Given the description of an element on the screen output the (x, y) to click on. 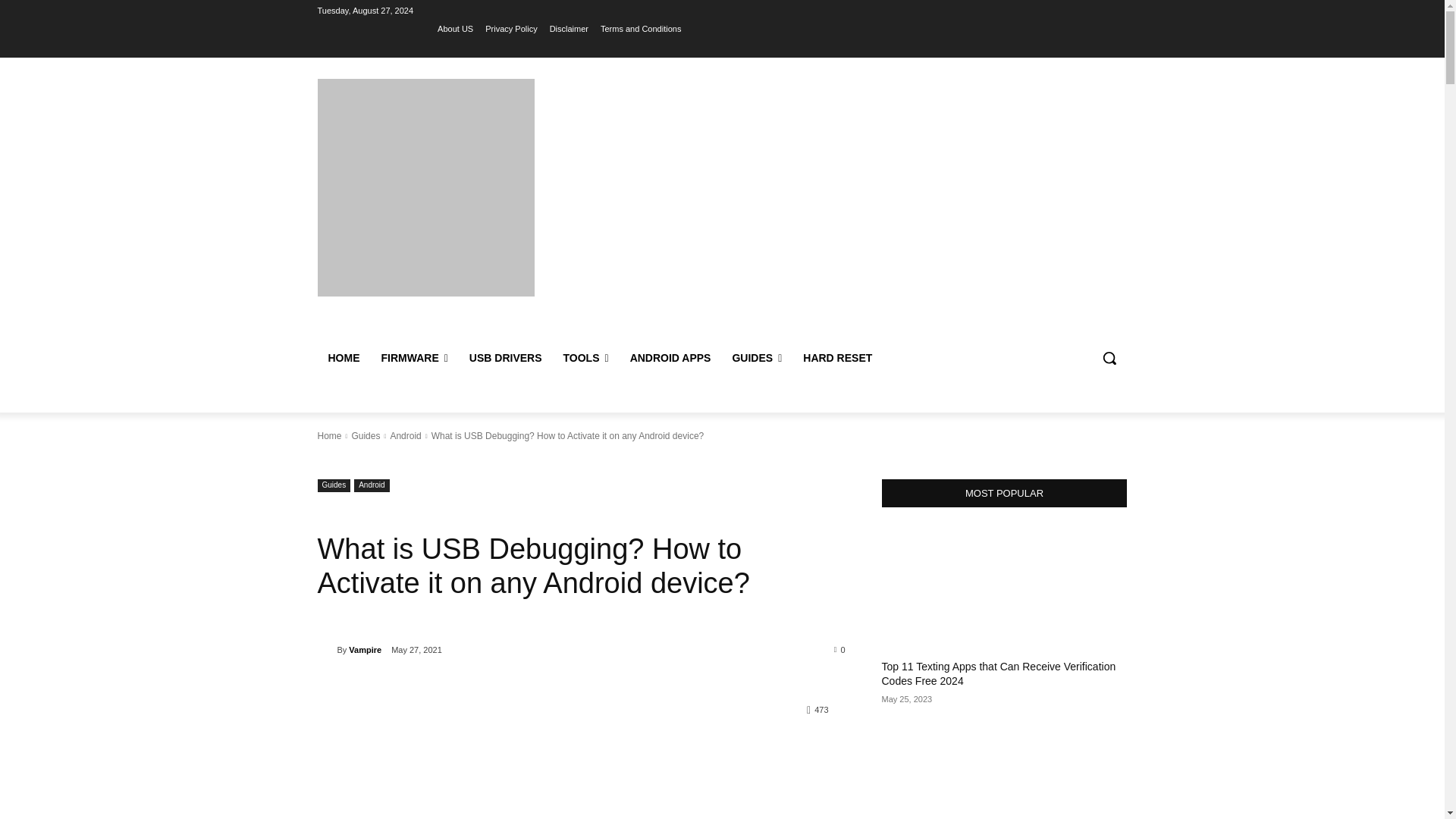
Terms and Conditions (640, 28)
Home (328, 435)
Disclaimer (569, 28)
About US (455, 28)
View all posts in Guides (365, 435)
HARD RESET (837, 357)
Privacy Policy (510, 28)
ANDROID APPS (671, 357)
GUIDES (756, 357)
Vampire (326, 649)
